Given the description of an element on the screen output the (x, y) to click on. 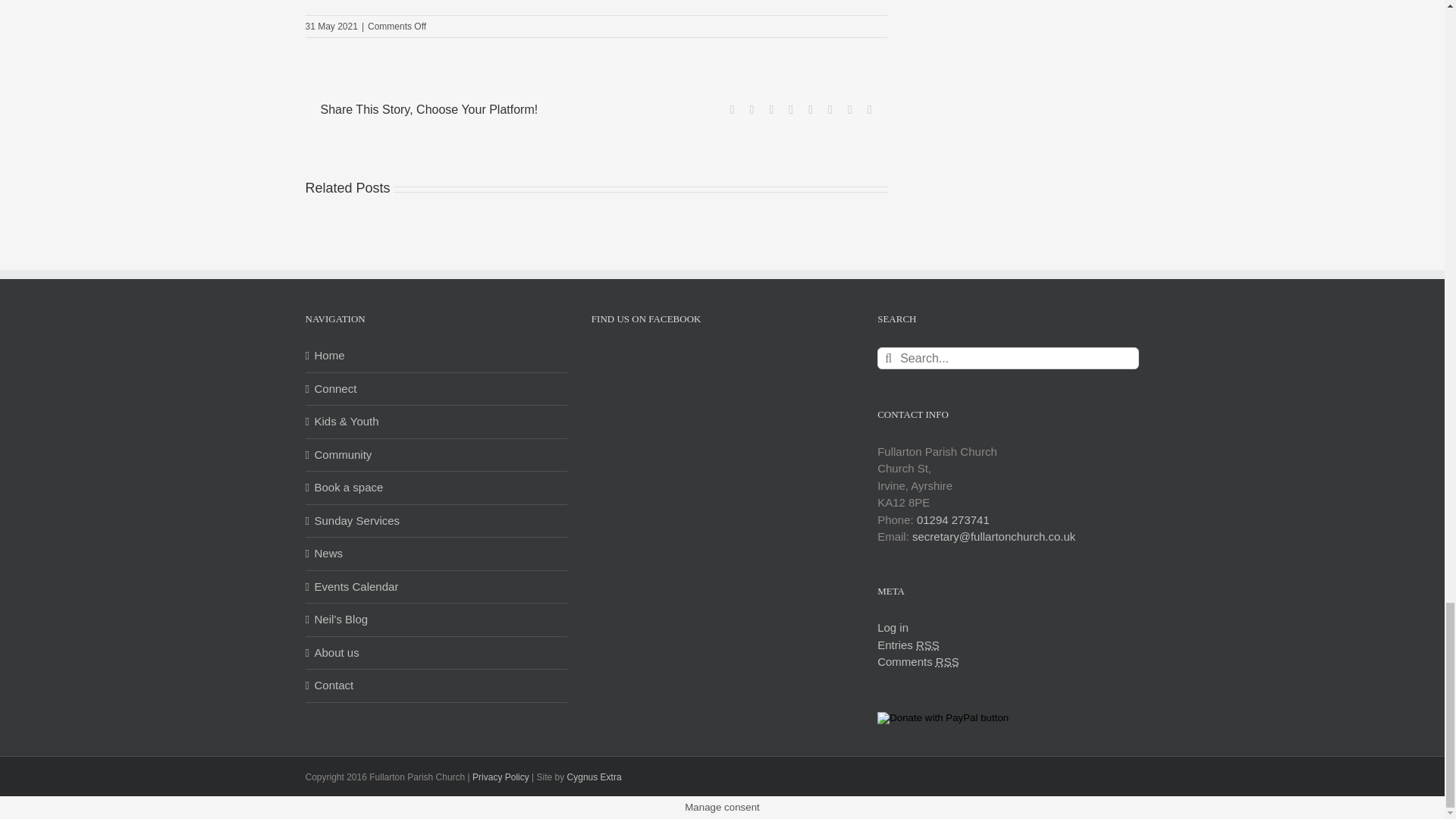
PayPal - The safer, easier way to pay online! (943, 717)
Really Simple Syndication (927, 644)
Really Simple Syndication (947, 661)
